Given the description of an element on the screen output the (x, y) to click on. 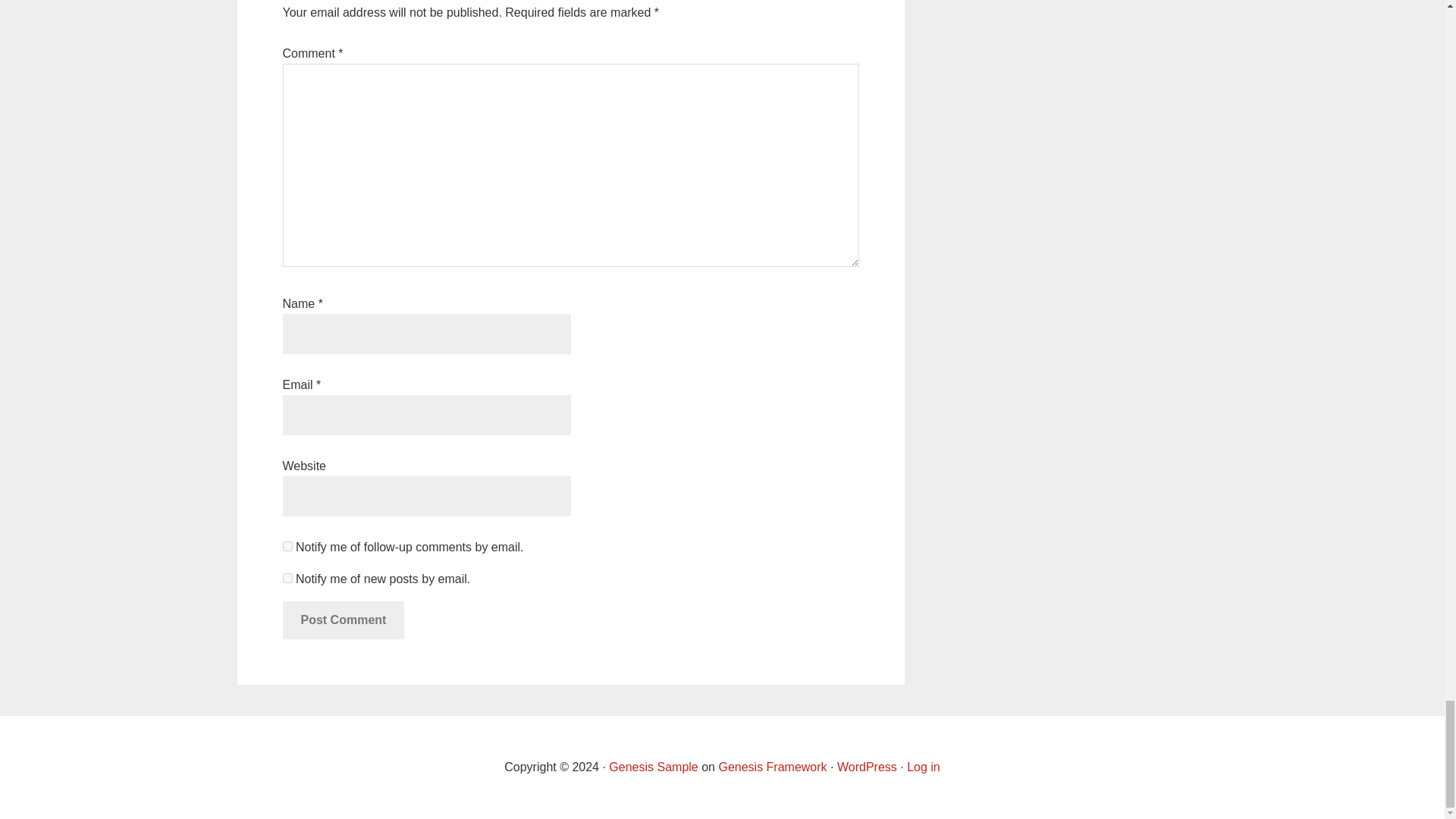
subscribe (287, 546)
Post Comment (343, 620)
subscribe (287, 578)
